Given the description of an element on the screen output the (x, y) to click on. 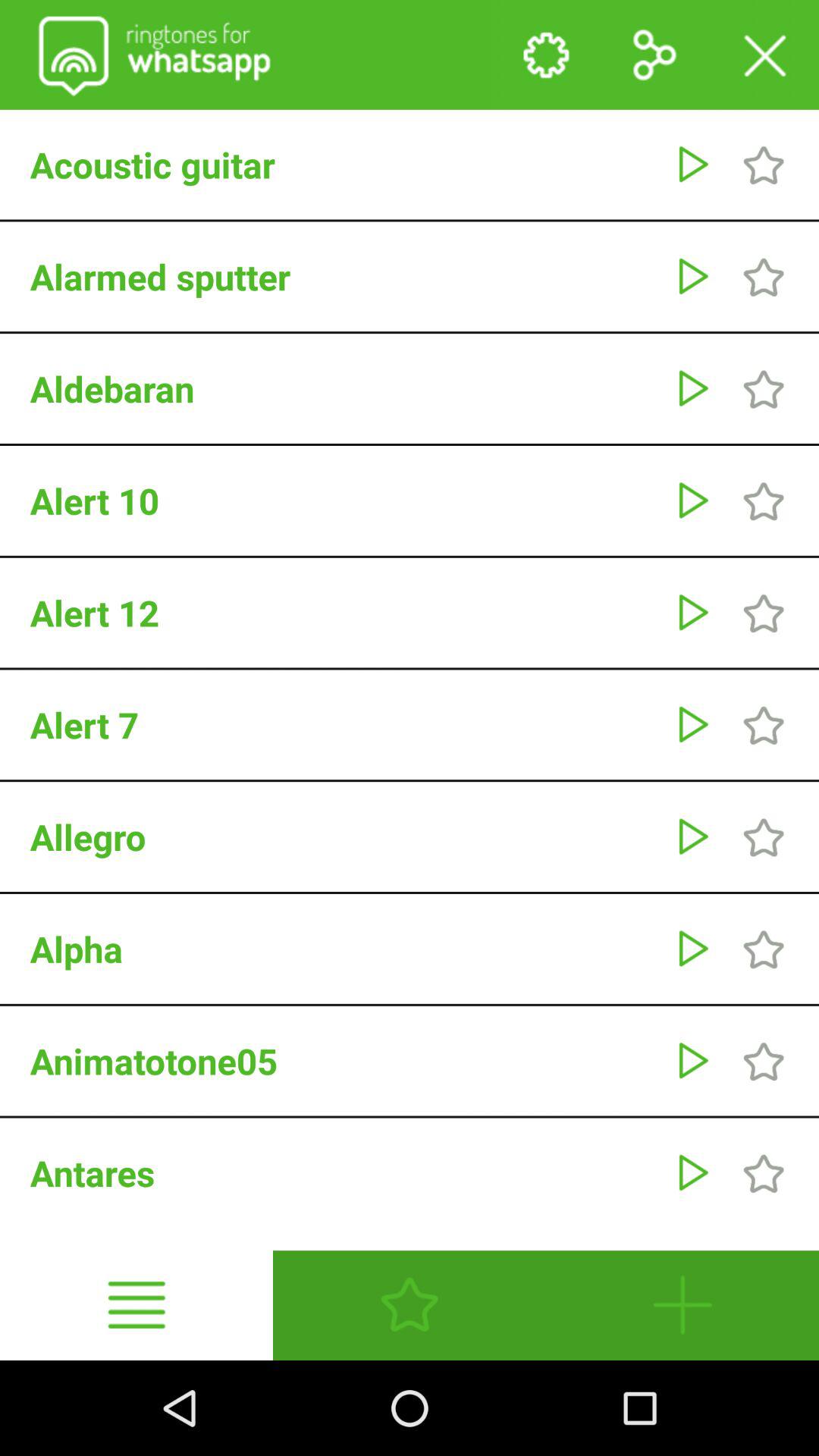
open the aldebaran item (344, 388)
